Given the description of an element on the screen output the (x, y) to click on. 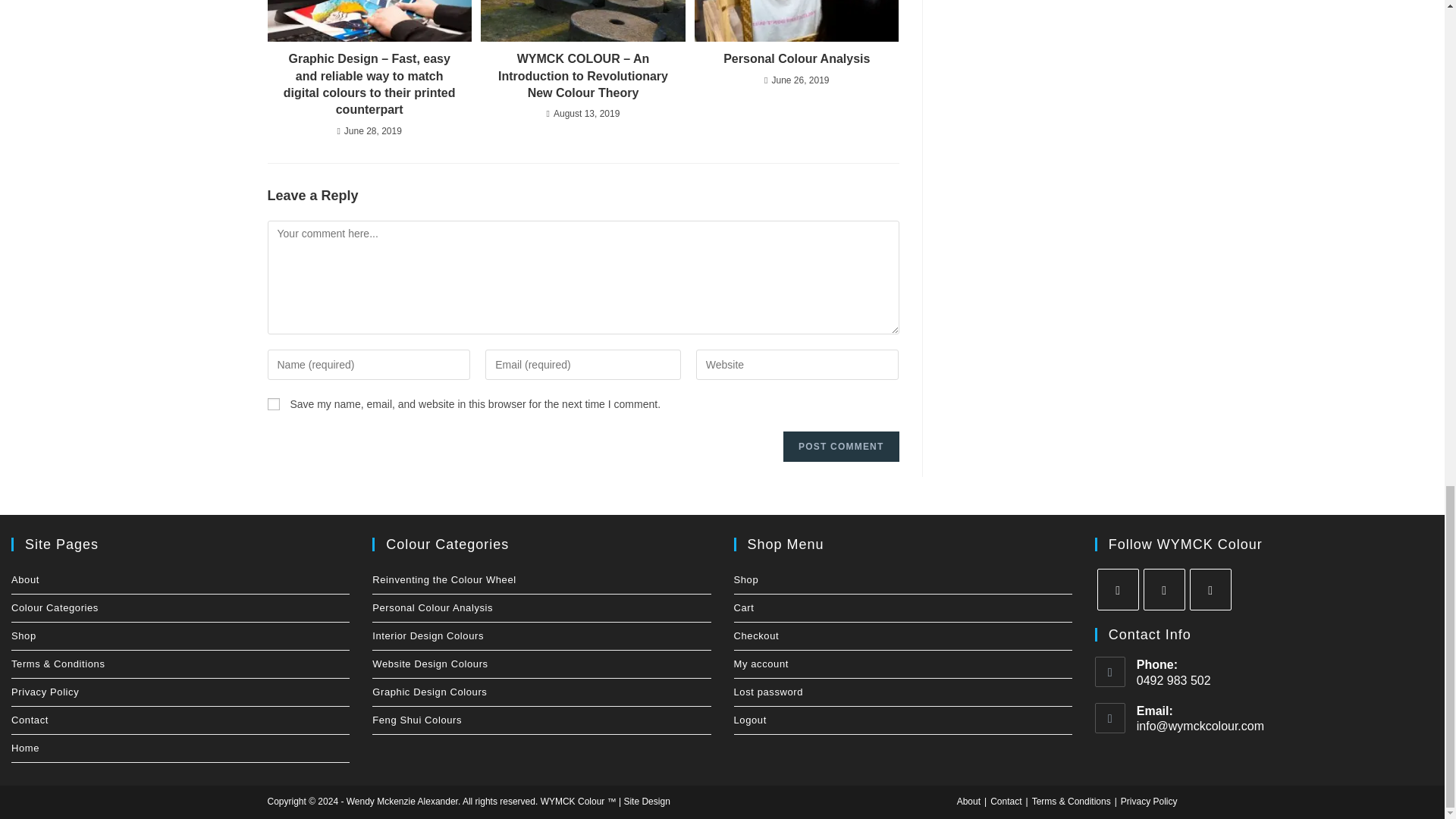
Personal Colour Analysis (541, 607)
Reinventing the Colour Wheel (541, 579)
Checkout (902, 636)
Contact (180, 719)
Post Comment (840, 446)
Shop (902, 579)
yes (272, 404)
Website Design Colours (541, 664)
Feng Shui Colours (541, 719)
Graphic Design Colours (541, 691)
